Given the description of an element on the screen output the (x, y) to click on. 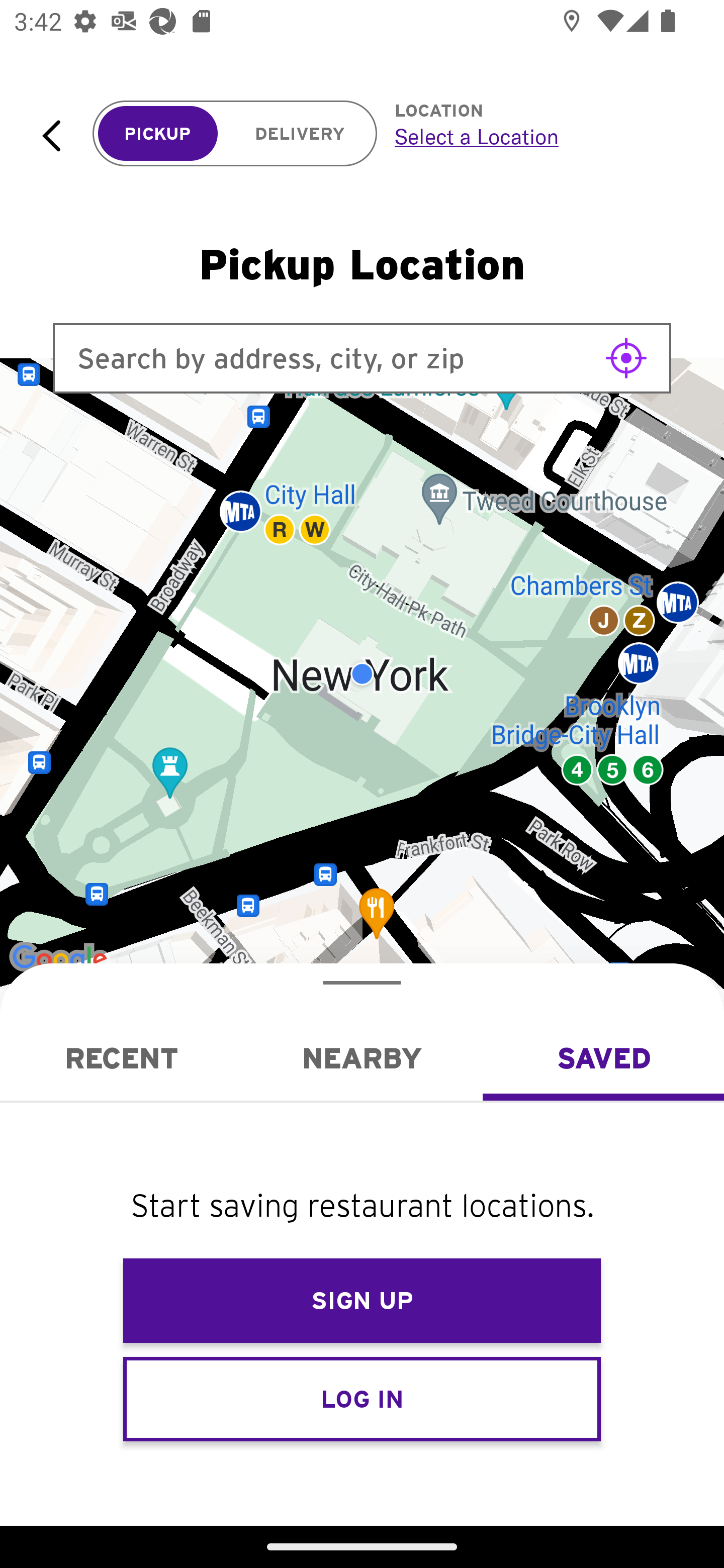
PICKUP (157, 133)
DELIVERY (299, 133)
Select a Location (536, 136)
Search by address, city, or zip (361, 358)
Google Map (362, 674)
Recent RECENT (120, 1058)
Nearby NEARBY (361, 1058)
SIGN UP (361, 1300)
LOG IN (361, 1398)
